Given the description of an element on the screen output the (x, y) to click on. 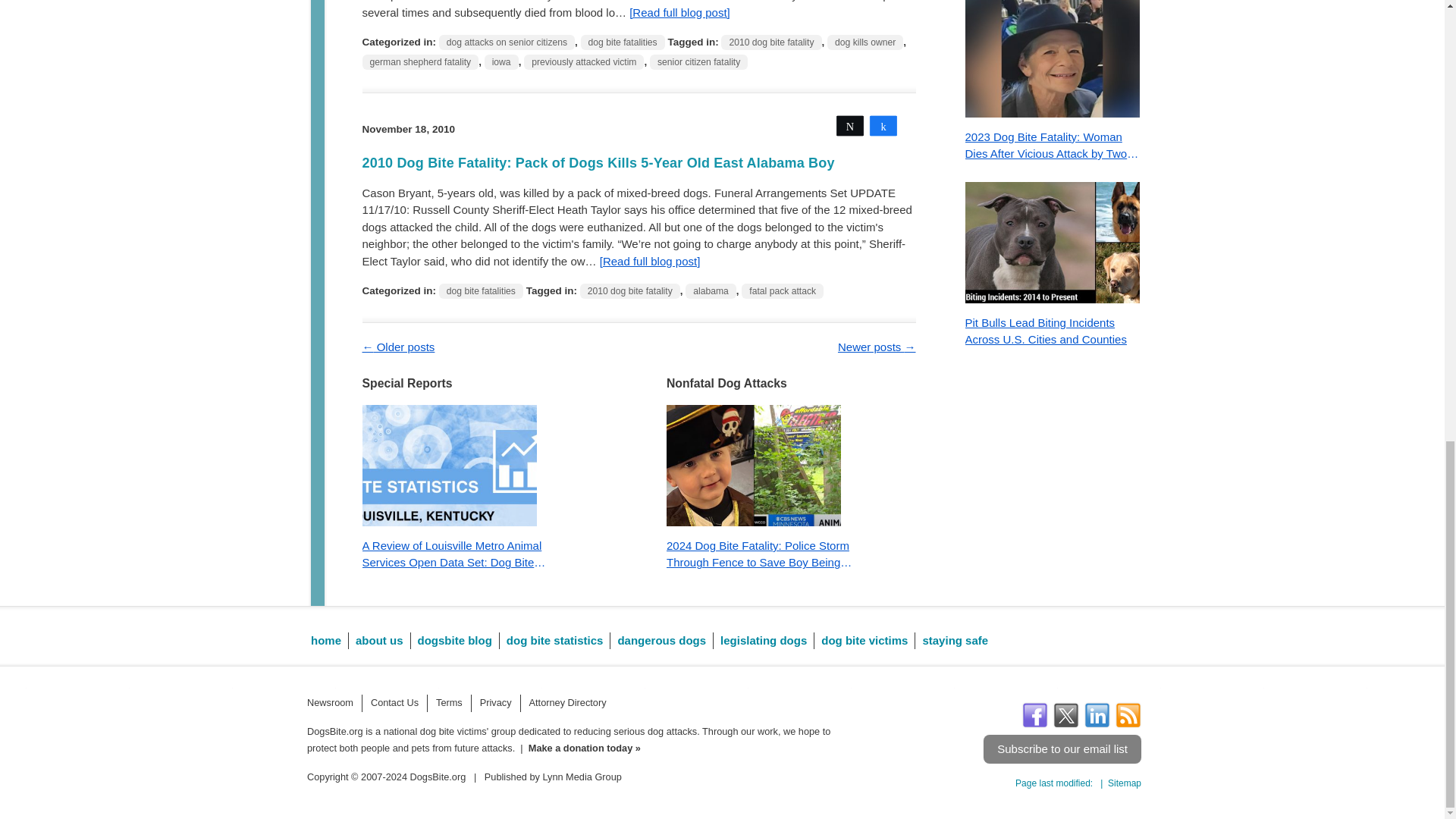
5:05 am (408, 128)
